Given the description of an element on the screen output the (x, y) to click on. 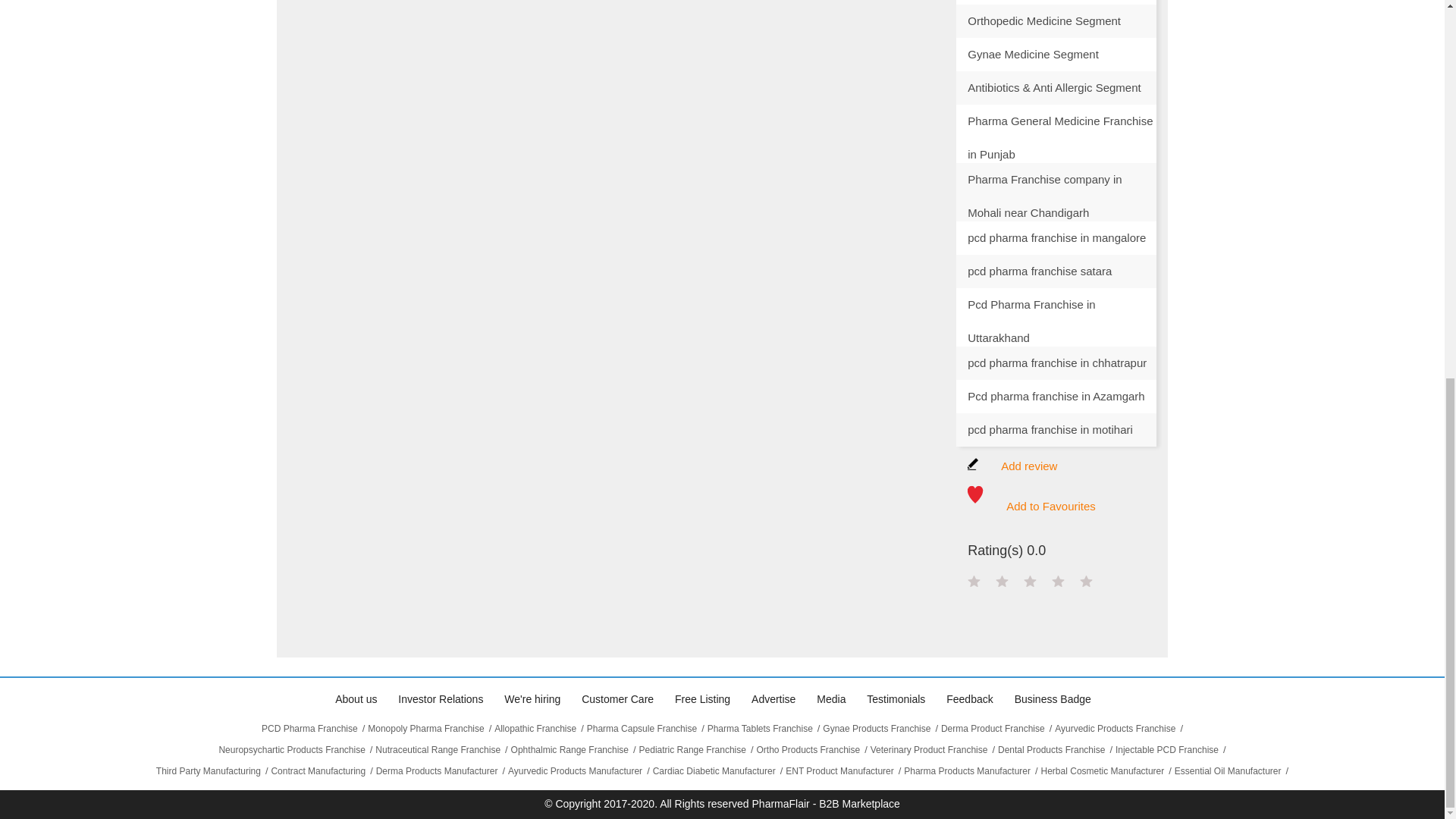
Pcd pharma franchise in Azamgarh (1056, 396)
Gynae Medicine Segment (1056, 54)
pcd pharma franchise in chhatrapur (1056, 363)
Pharma General Medicine Franchise in Punjab (1056, 121)
Pcd Pharma Franchise in Uttarakhand (1056, 304)
Orthopedic Medicine Segment (1056, 20)
pcd pharma franchise in motihari (1056, 429)
pcd pharma franchise satara (1056, 271)
Pediatrics Segment (1056, 2)
Pharma Franchise company in Mohali near Chandigarh (1056, 179)
pcd pharma franchise in mangalore (1056, 237)
